Given the description of an element on the screen output the (x, y) to click on. 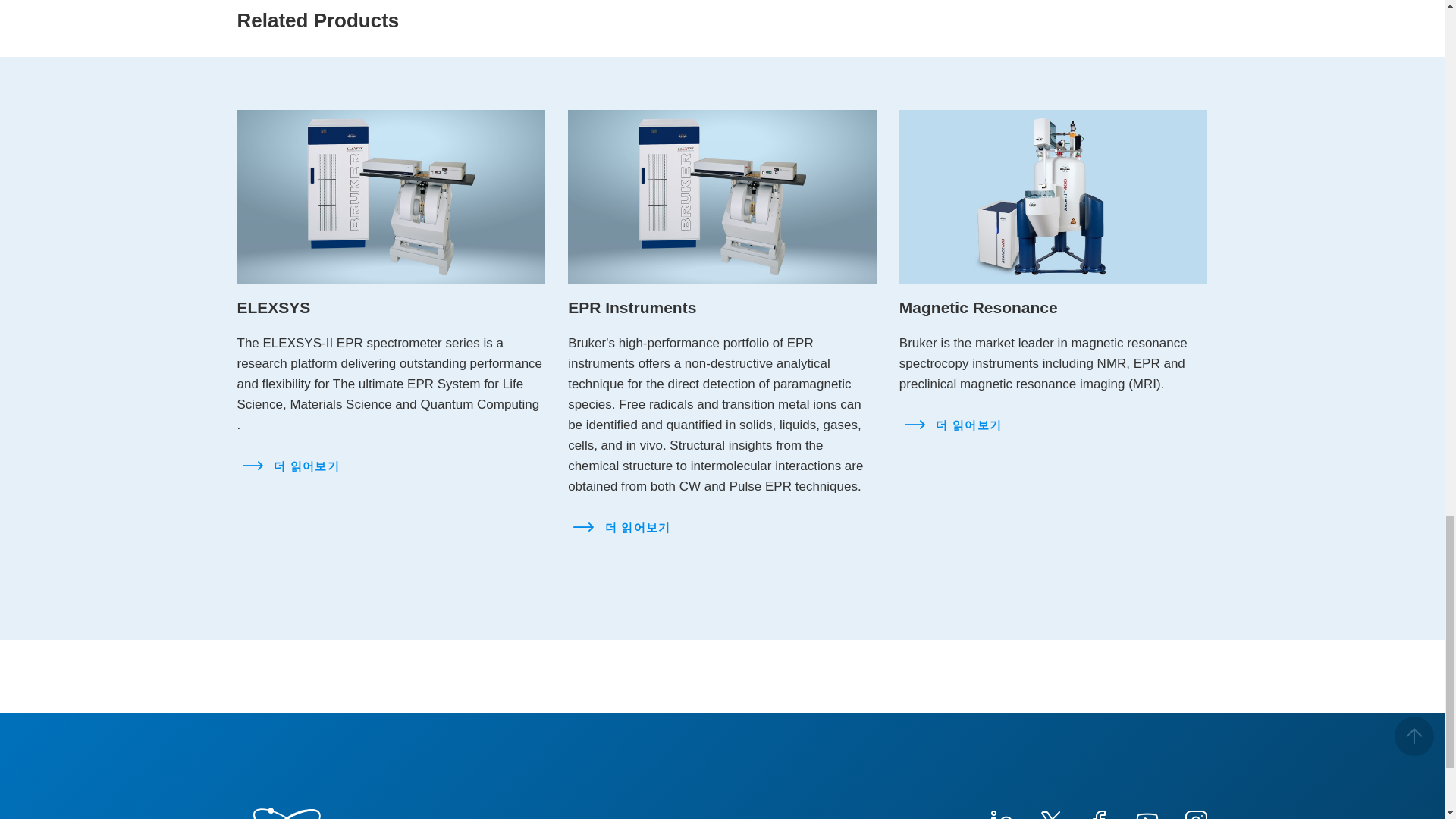
facebook (1097, 813)
instagram (1194, 813)
linkedin (1000, 813)
youtube (1146, 813)
twitter (1048, 813)
